Given the description of an element on the screen output the (x, y) to click on. 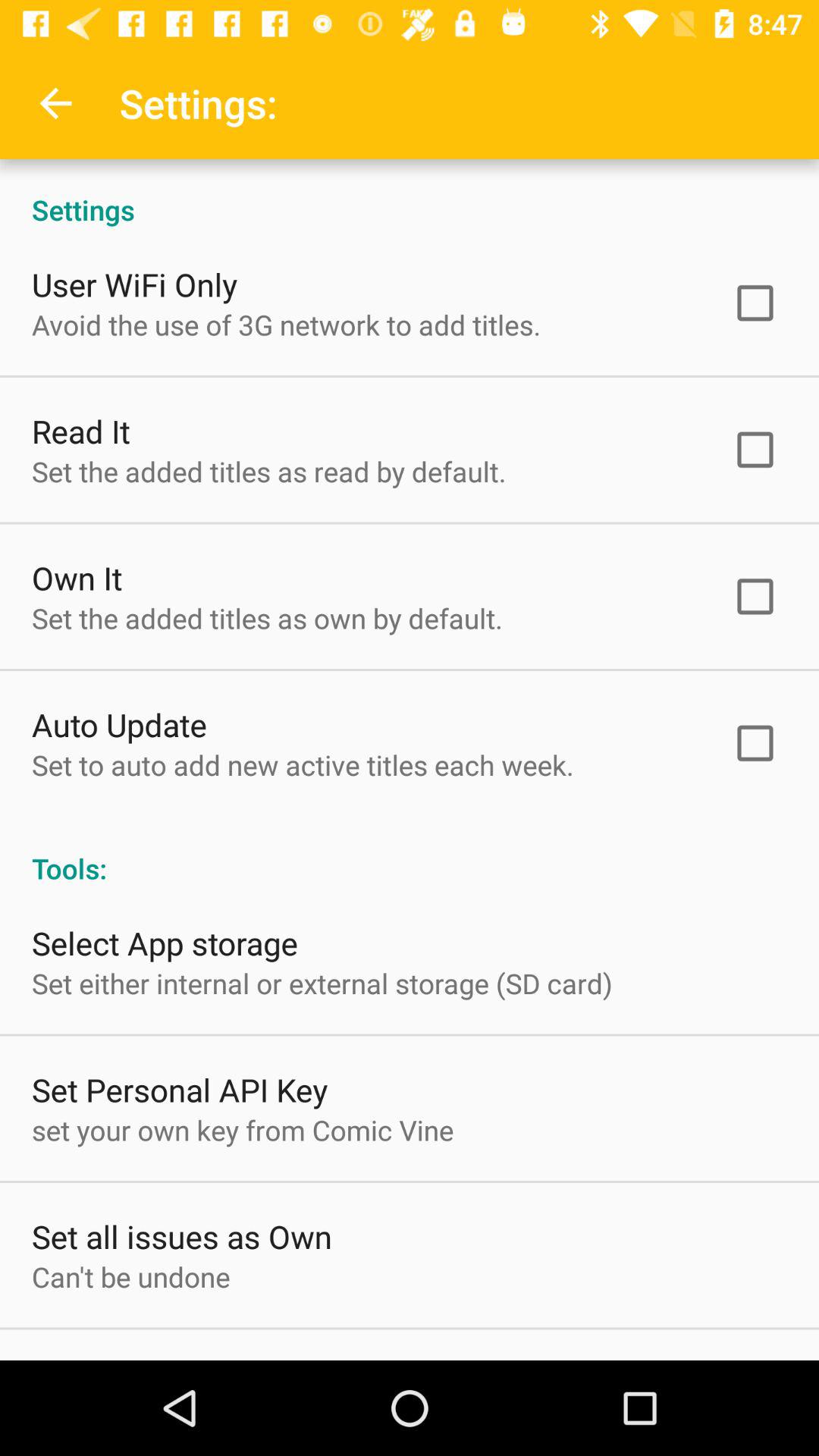
swipe to the tools: icon (409, 852)
